Given the description of an element on the screen output the (x, y) to click on. 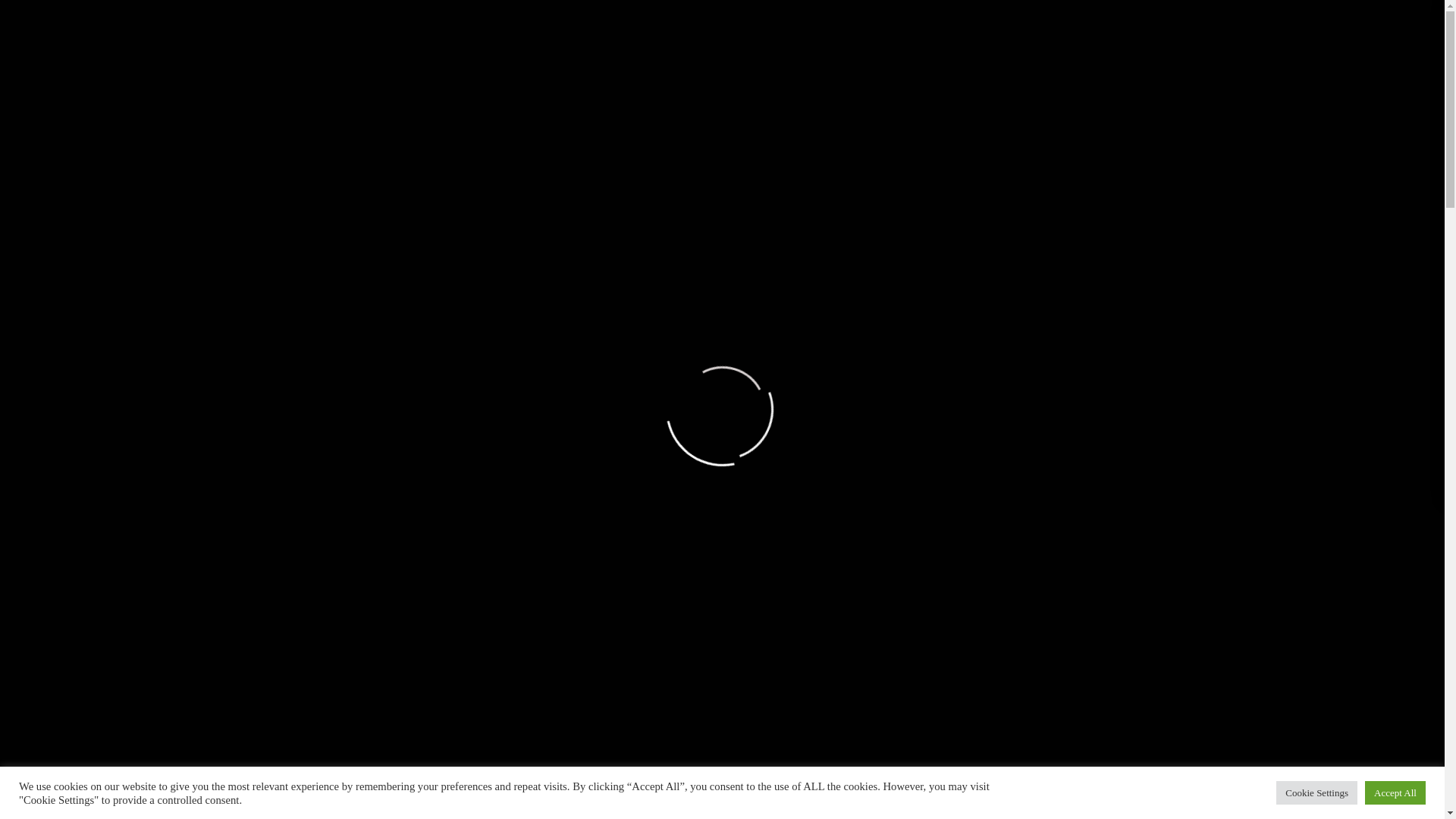
Search (1199, 337)
Search (1199, 337)
Weekly Fashion Roundup: October 20 (1222, 13)
